Given the description of an element on the screen output the (x, y) to click on. 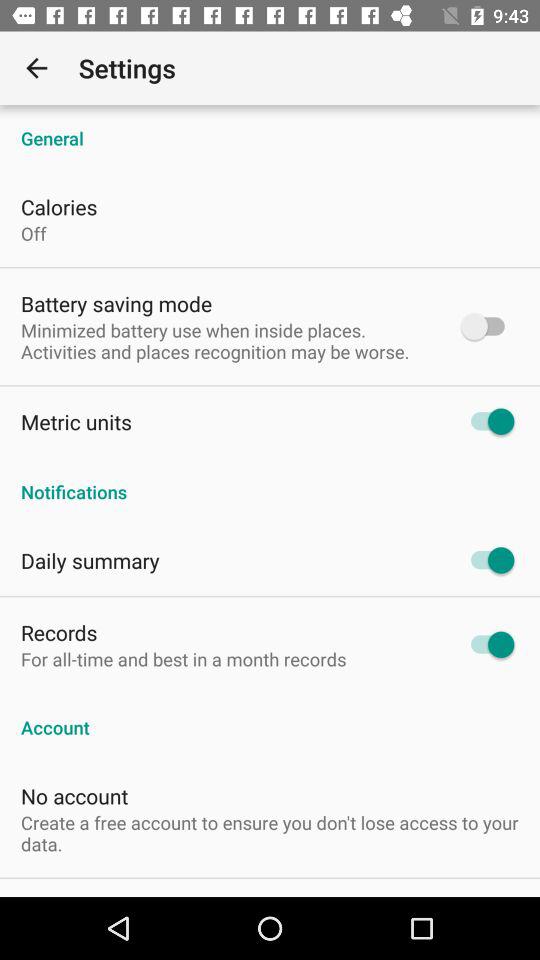
jump until the notifications item (270, 481)
